Given the description of an element on the screen output the (x, y) to click on. 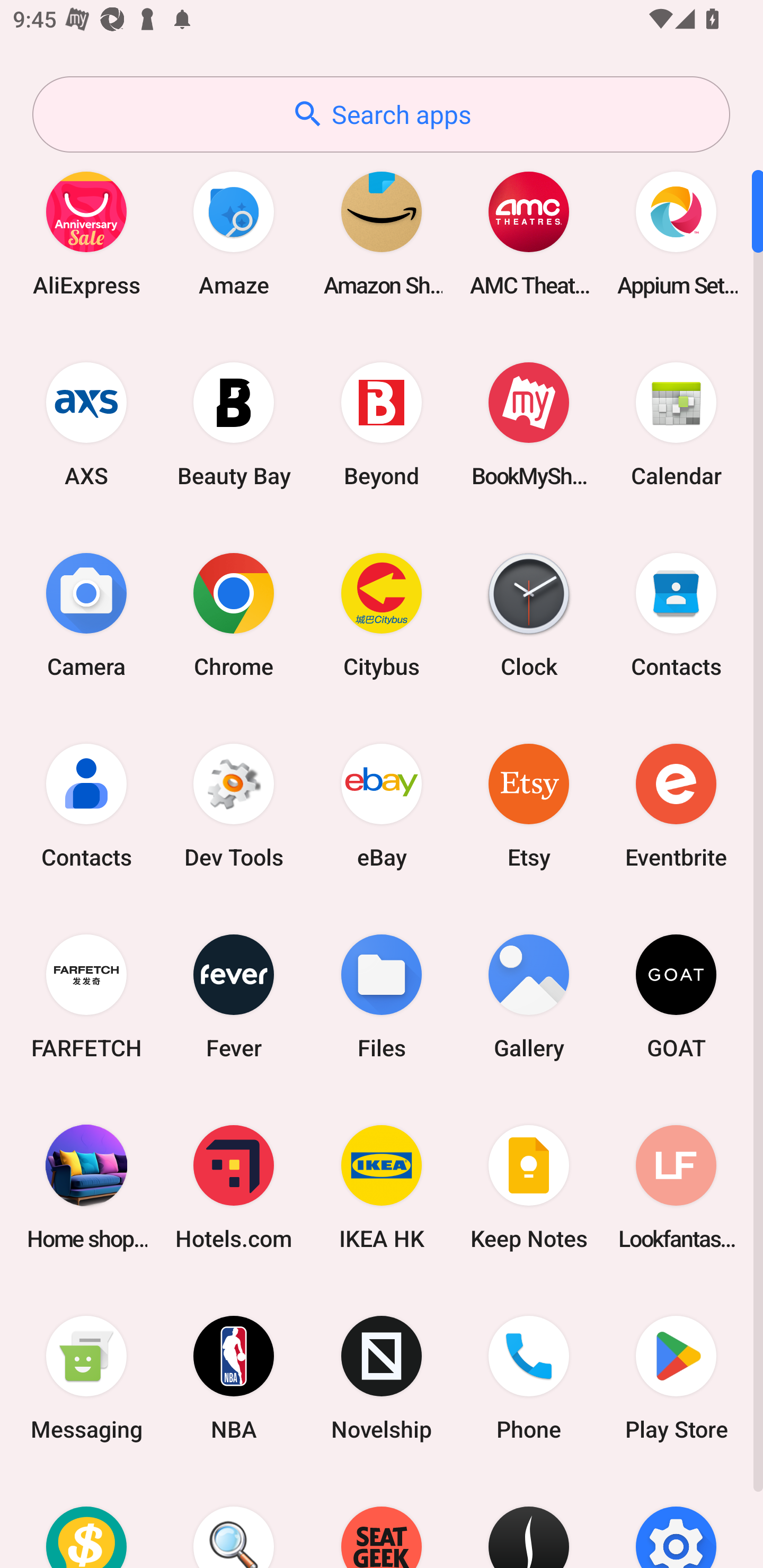
  Search apps (381, 114)
AliExpress (86, 233)
Amaze (233, 233)
Amazon Shopping (381, 233)
AMC Theatres (528, 233)
Appium Settings (676, 233)
AXS (86, 424)
Beauty Bay (233, 424)
Beyond (381, 424)
BookMyShow (528, 424)
Calendar (676, 424)
Camera (86, 614)
Chrome (233, 614)
Citybus (381, 614)
Clock (528, 614)
Contacts (676, 614)
Contacts (86, 805)
Dev Tools (233, 805)
eBay (381, 805)
Etsy (528, 805)
Eventbrite (676, 805)
FARFETCH (86, 996)
Fever (233, 996)
Files (381, 996)
Gallery (528, 996)
GOAT (676, 996)
Home shopping (86, 1186)
Hotels.com (233, 1186)
IKEA HK (381, 1186)
Keep Notes (528, 1186)
Lookfantastic (676, 1186)
Messaging (86, 1377)
NBA (233, 1377)
Novelship (381, 1377)
Phone (528, 1377)
Play Store (676, 1377)
